Given the description of an element on the screen output the (x, y) to click on. 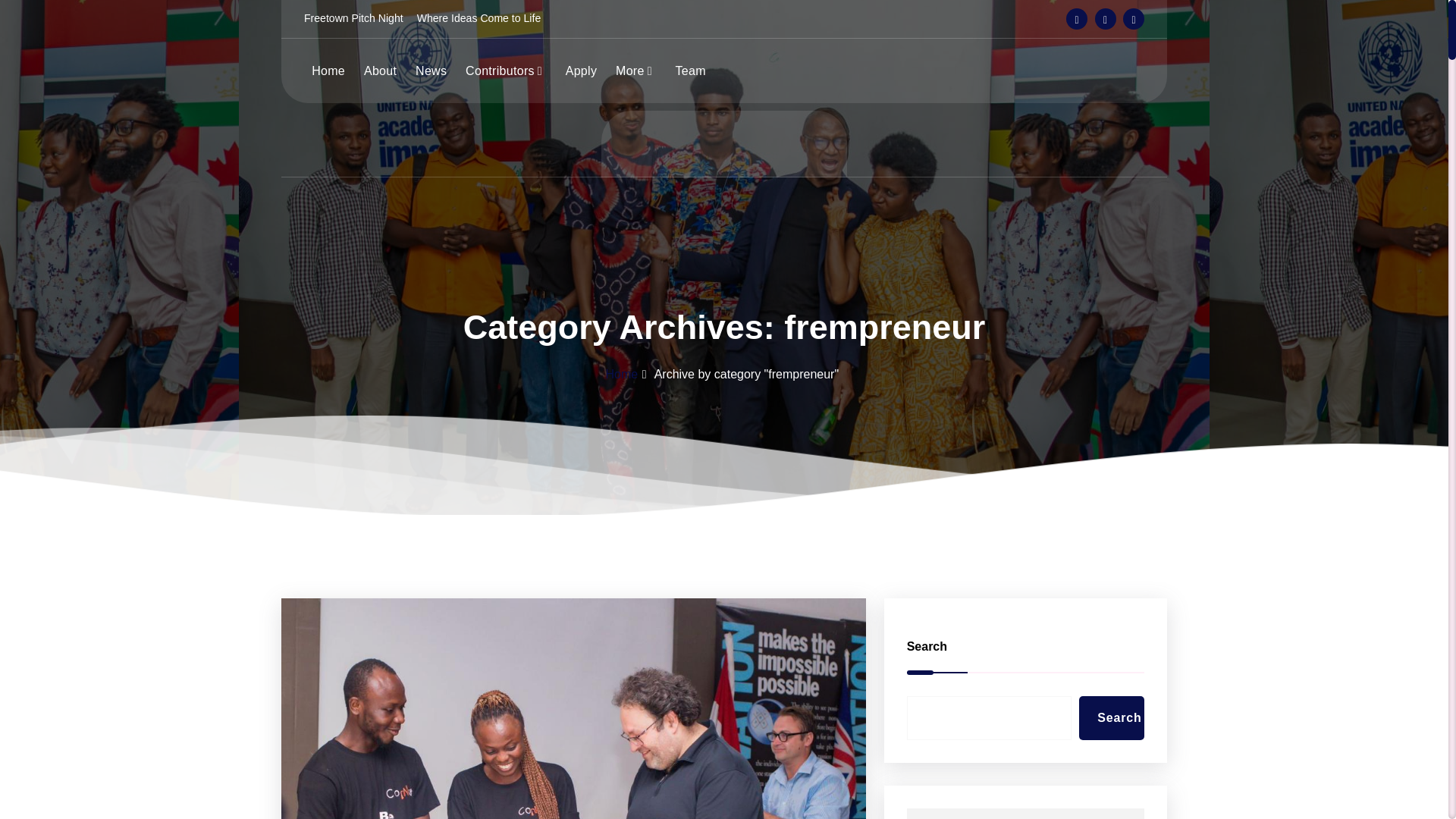
Team (690, 70)
Contributors (505, 70)
About (380, 70)
Home (327, 70)
News (431, 70)
More (636, 70)
Apply (580, 70)
